Given the description of an element on the screen output the (x, y) to click on. 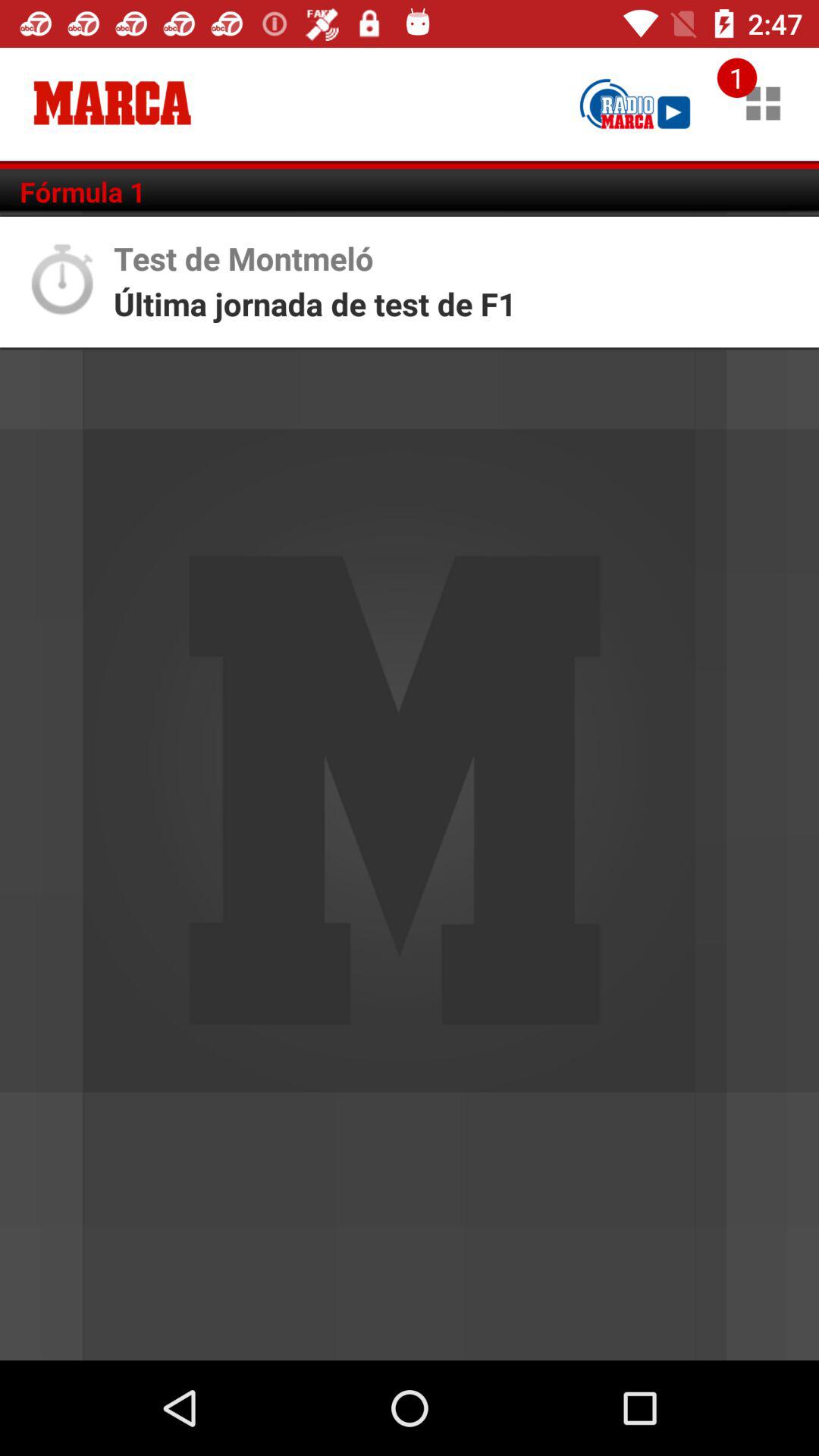
go to icon (763, 103)
